Given the description of an element on the screen output the (x, y) to click on. 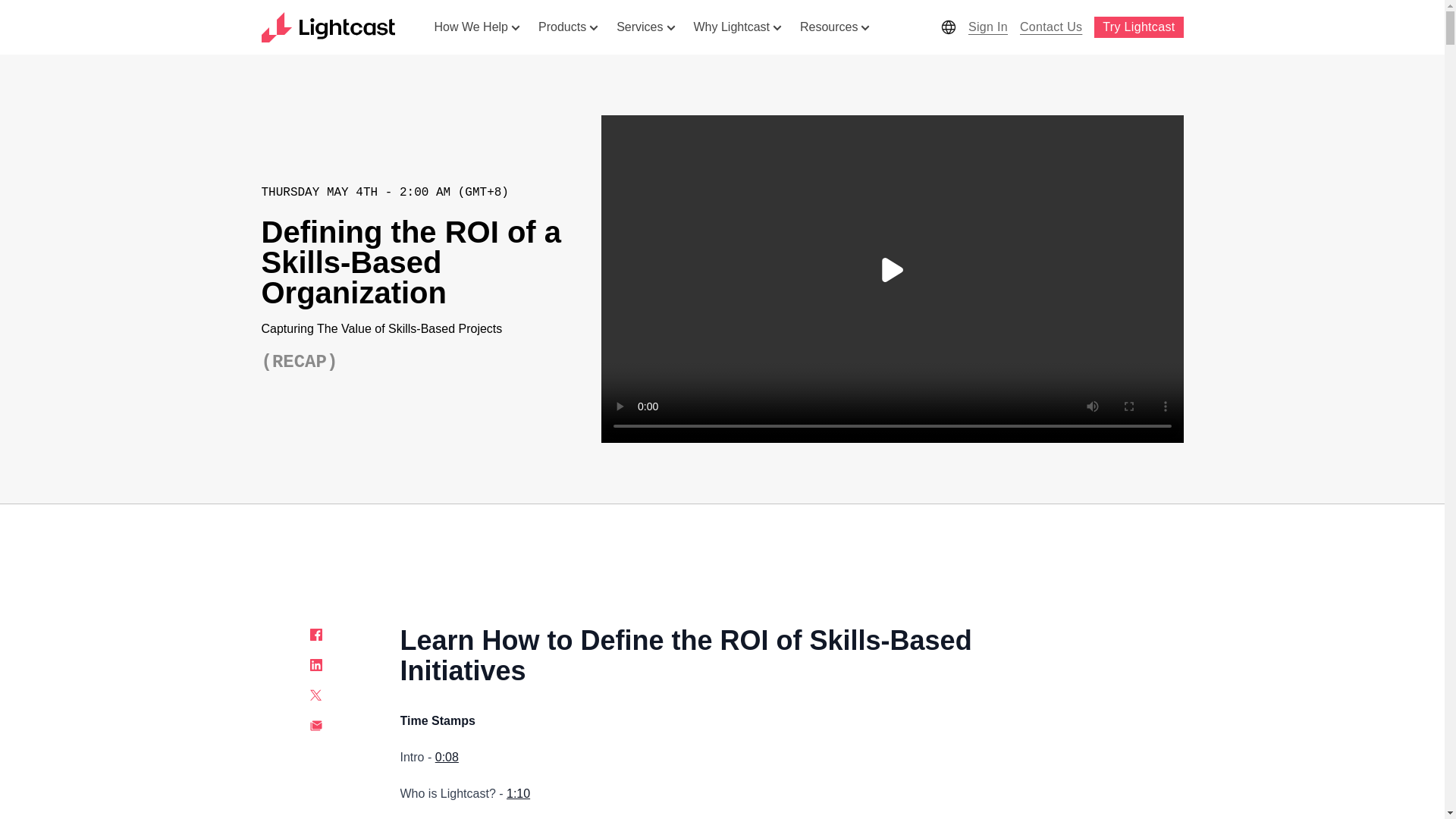
Services (645, 27)
Products (568, 27)
Contact Us (1050, 27)
1:10 (517, 793)
Why Lightcast (737, 27)
Resources (834, 27)
How We Help (477, 27)
Sign In (987, 27)
0:08 (446, 757)
Try Lightcast (1138, 26)
